Given the description of an element on the screen output the (x, y) to click on. 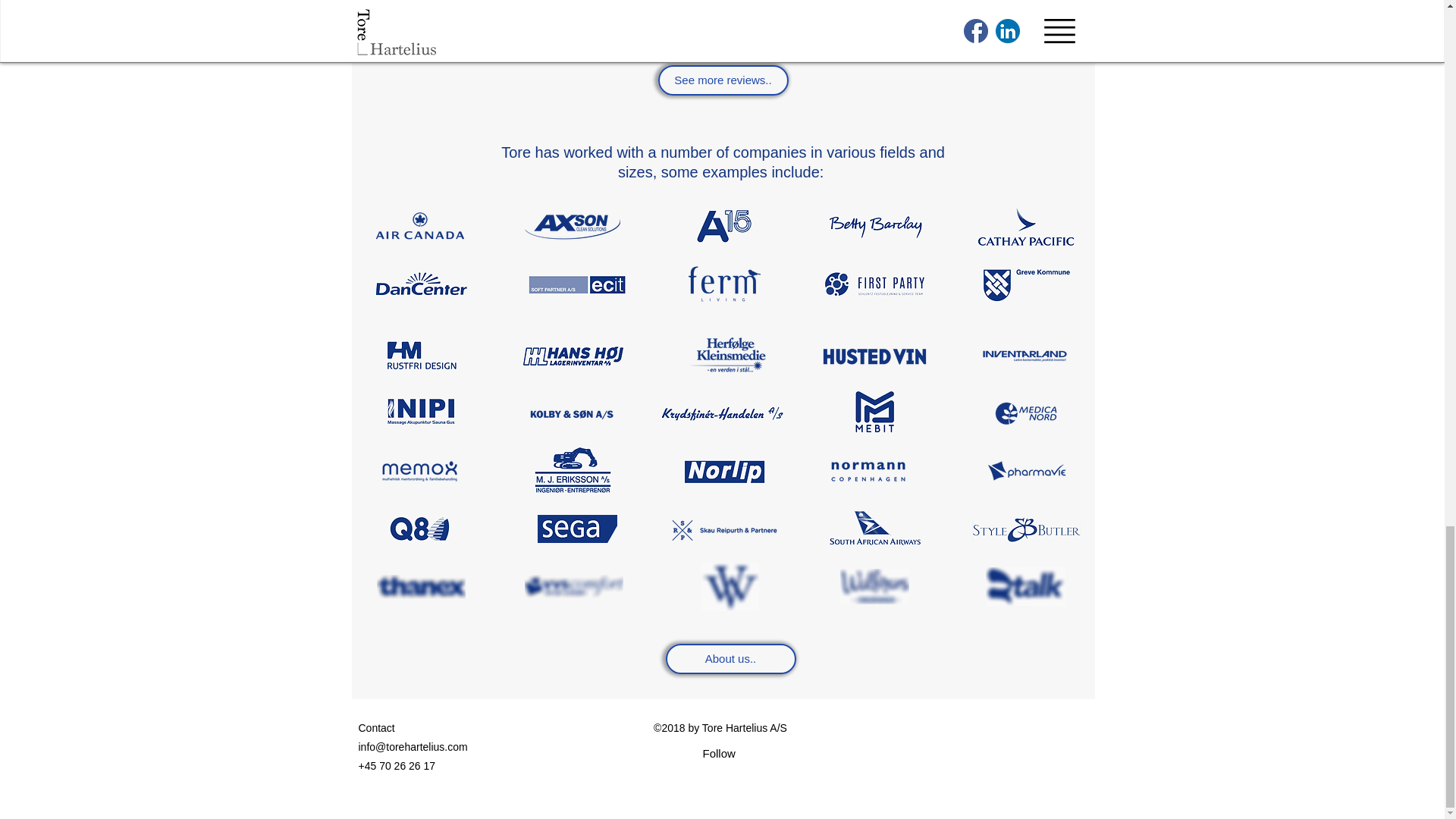
Copenhagen, Denmark  (607, 10)
About us.. (730, 658)
See more reviews.. (723, 80)
